Given the description of an element on the screen output the (x, y) to click on. 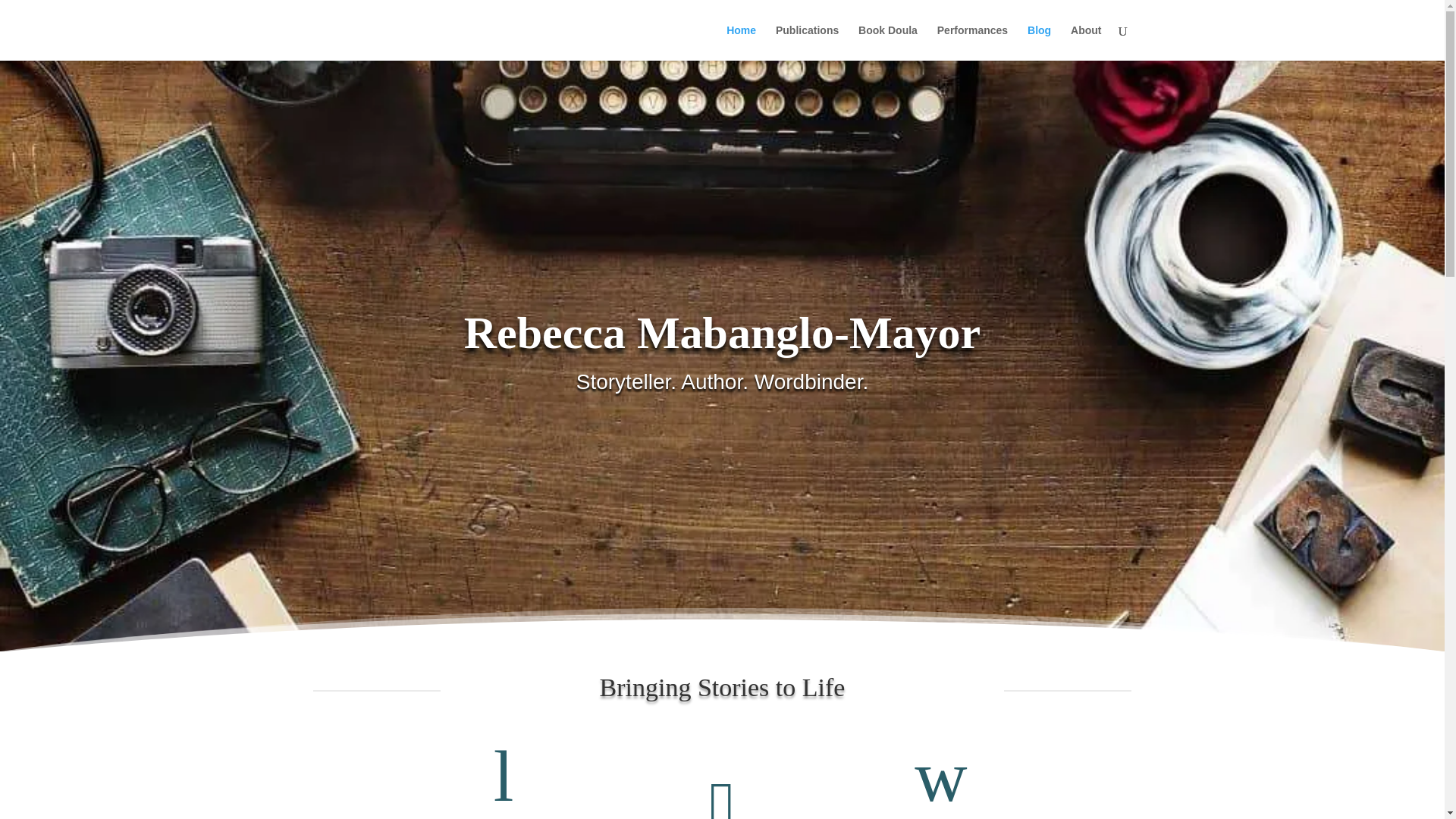
Publications (807, 42)
Book Doula (888, 42)
Performances (972, 42)
